Given the description of an element on the screen output the (x, y) to click on. 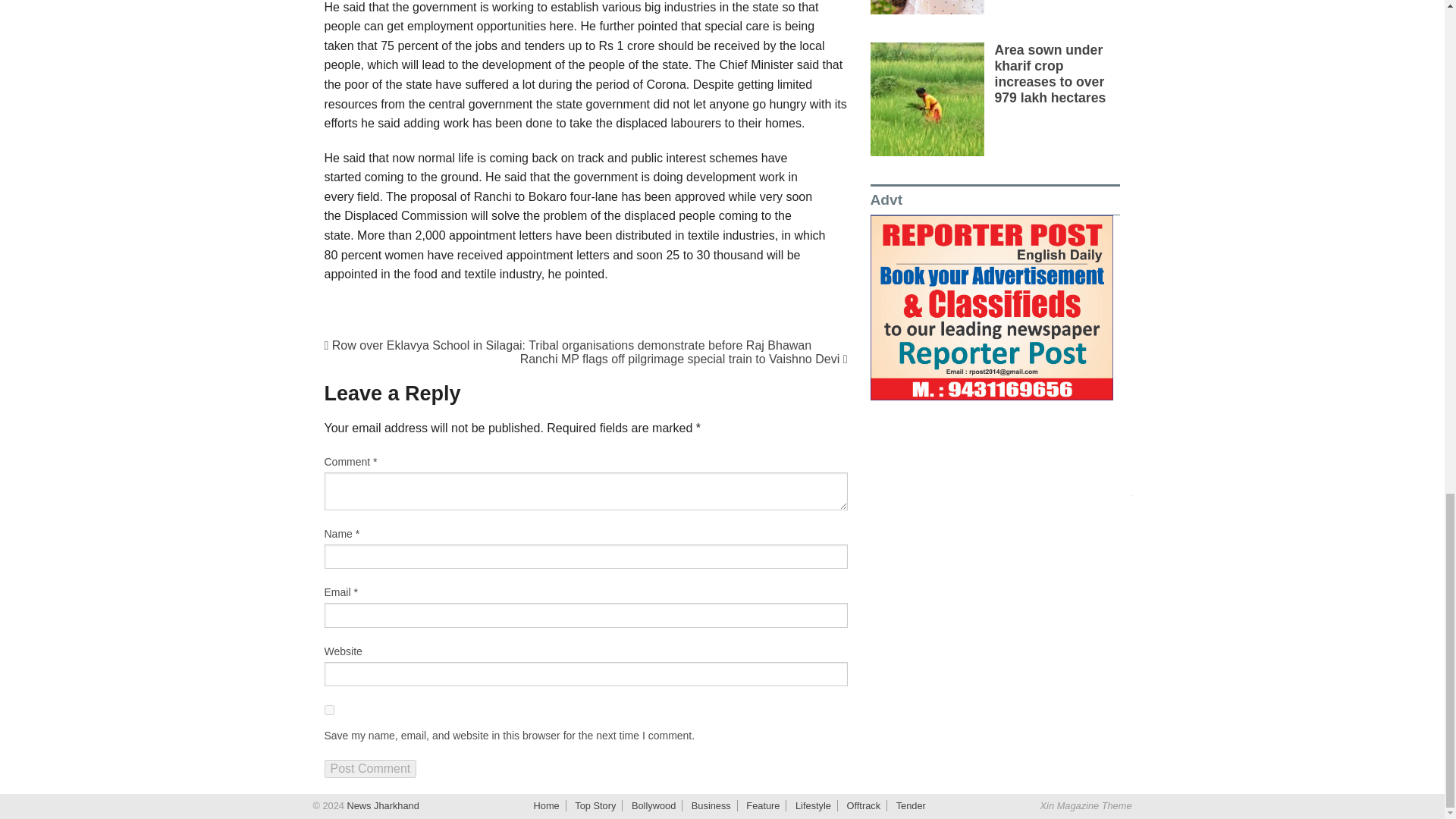
News Jharkhand (381, 805)
Post Comment (370, 769)
Xin Magazine Theme (1086, 805)
Business (710, 805)
Ranchi MP flags off pilgrimage special train to Vaishno Devi (683, 358)
Home (546, 805)
yes (329, 709)
Top Story (595, 805)
Bollywood (653, 805)
